Given the description of an element on the screen output the (x, y) to click on. 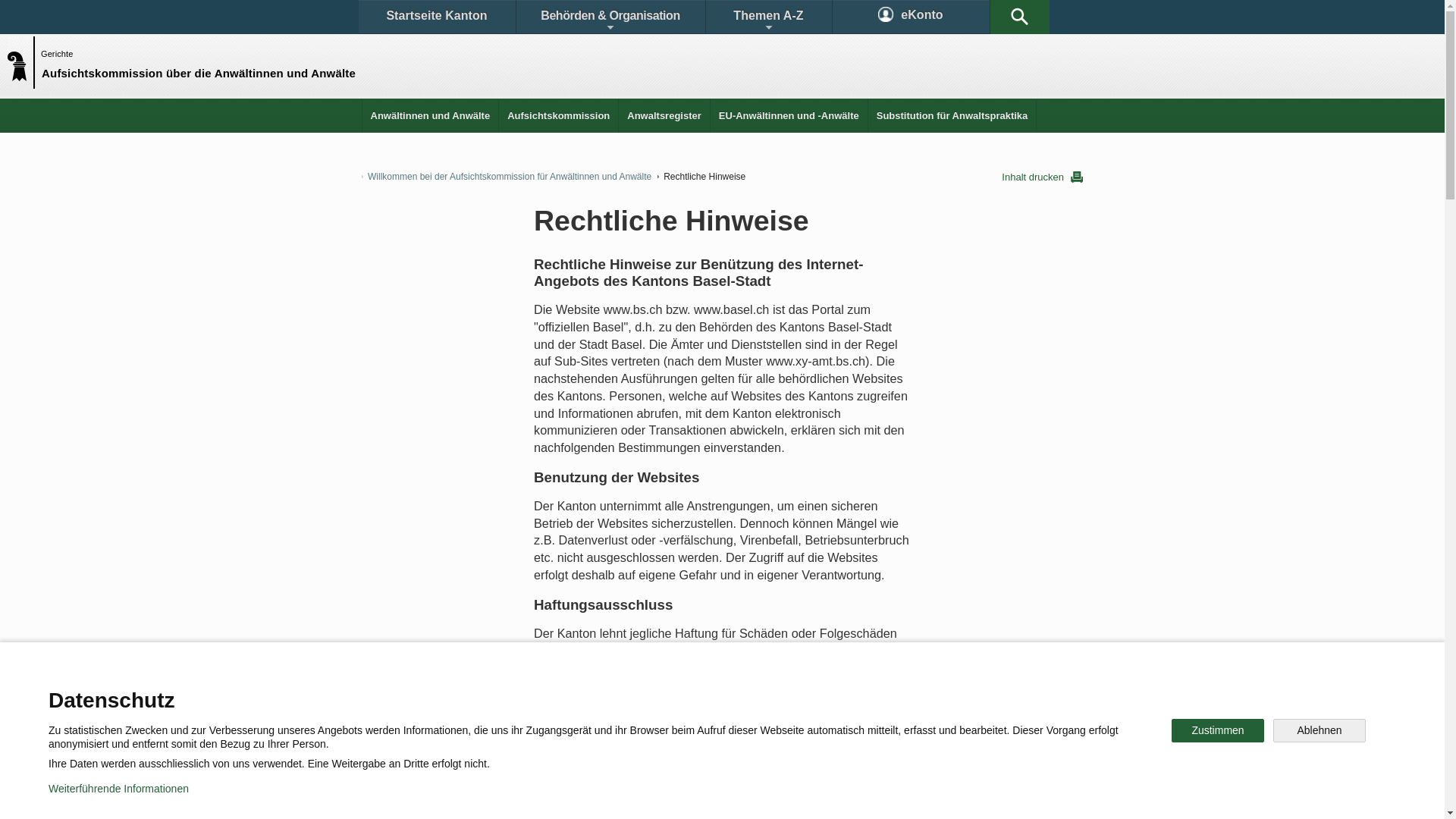
Anwaltsregister Element type: text (663, 115)
Ablehnen Element type: text (1319, 730)
Inhalt drucken Element type: text (1041, 176)
Impressum Element type: text (648, 796)
Themen A-Z Element type: text (768, 17)
Nutzungsregelungen Element type: text (542, 796)
Publikationen Element type: text (795, 693)
eKonto Element type: text (910, 17)
Facebook Element type: text (547, 746)
Kontakt Element type: text (406, 693)
Instagram Element type: text (738, 746)
YouTube Element type: text (839, 746)
Gesetze Element type: text (597, 693)
Aufsichtskommission Element type: text (558, 115)
Statistiken Element type: text (687, 693)
Zur mobilen Ansicht Element type: text (752, 796)
Startseite Kanton Element type: text (435, 17)
Stadtplan & Karte Element type: text (504, 693)
Twitter Element type: text (642, 746)
Bild & Multimedia Element type: text (908, 693)
Zustimmen Element type: text (1217, 730)
